Given the description of an element on the screen output the (x, y) to click on. 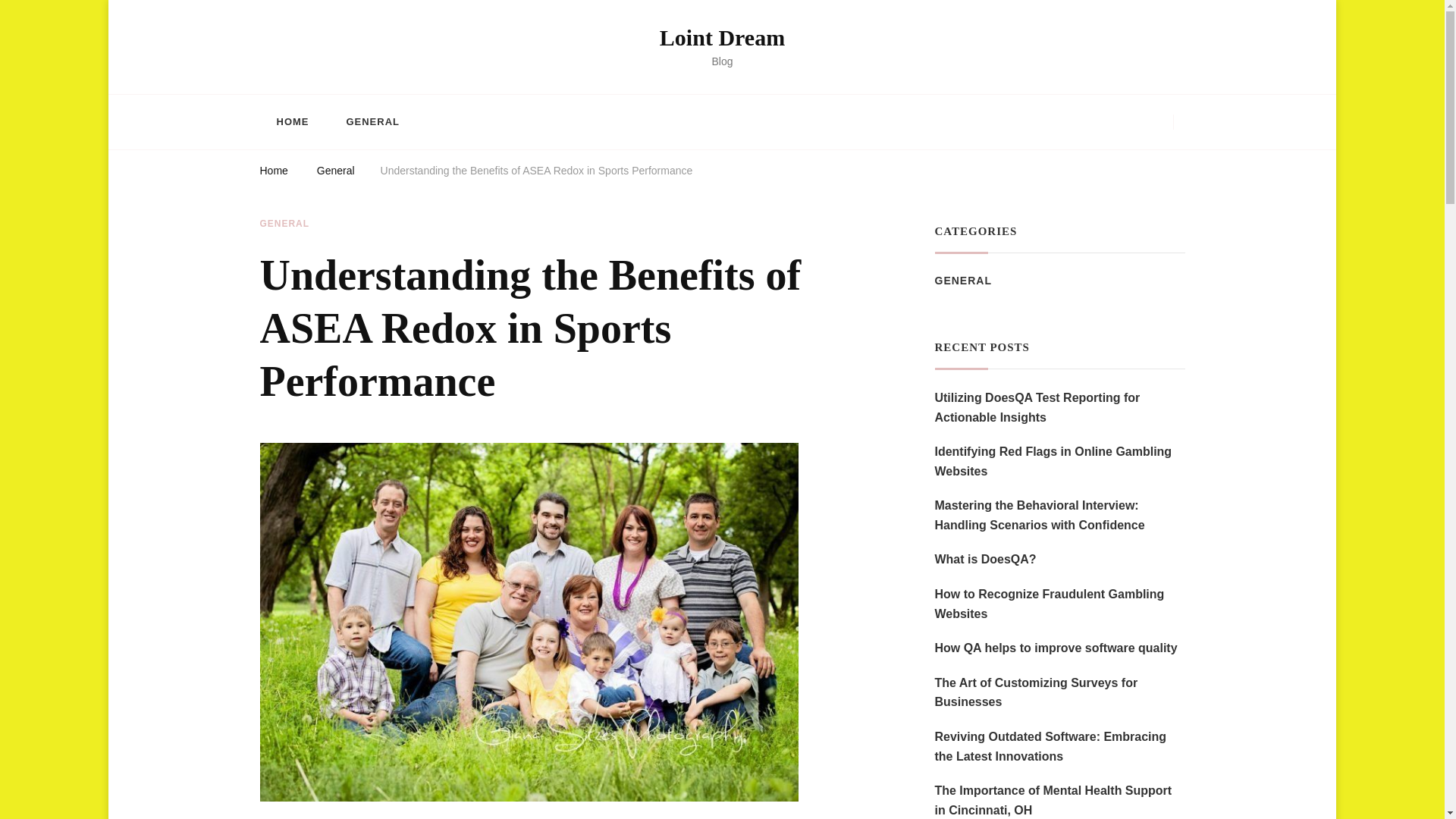
Identifying Red Flags in Online Gambling Websites (1059, 461)
What is DoesQA? (984, 559)
GENERAL (283, 223)
General (336, 172)
HOME (291, 121)
GENERAL (962, 280)
Utilizing DoesQA Test Reporting for Actionable Insights (1059, 407)
Home (272, 172)
Loint Dream (721, 37)
GENERAL (371, 121)
